Given the description of an element on the screen output the (x, y) to click on. 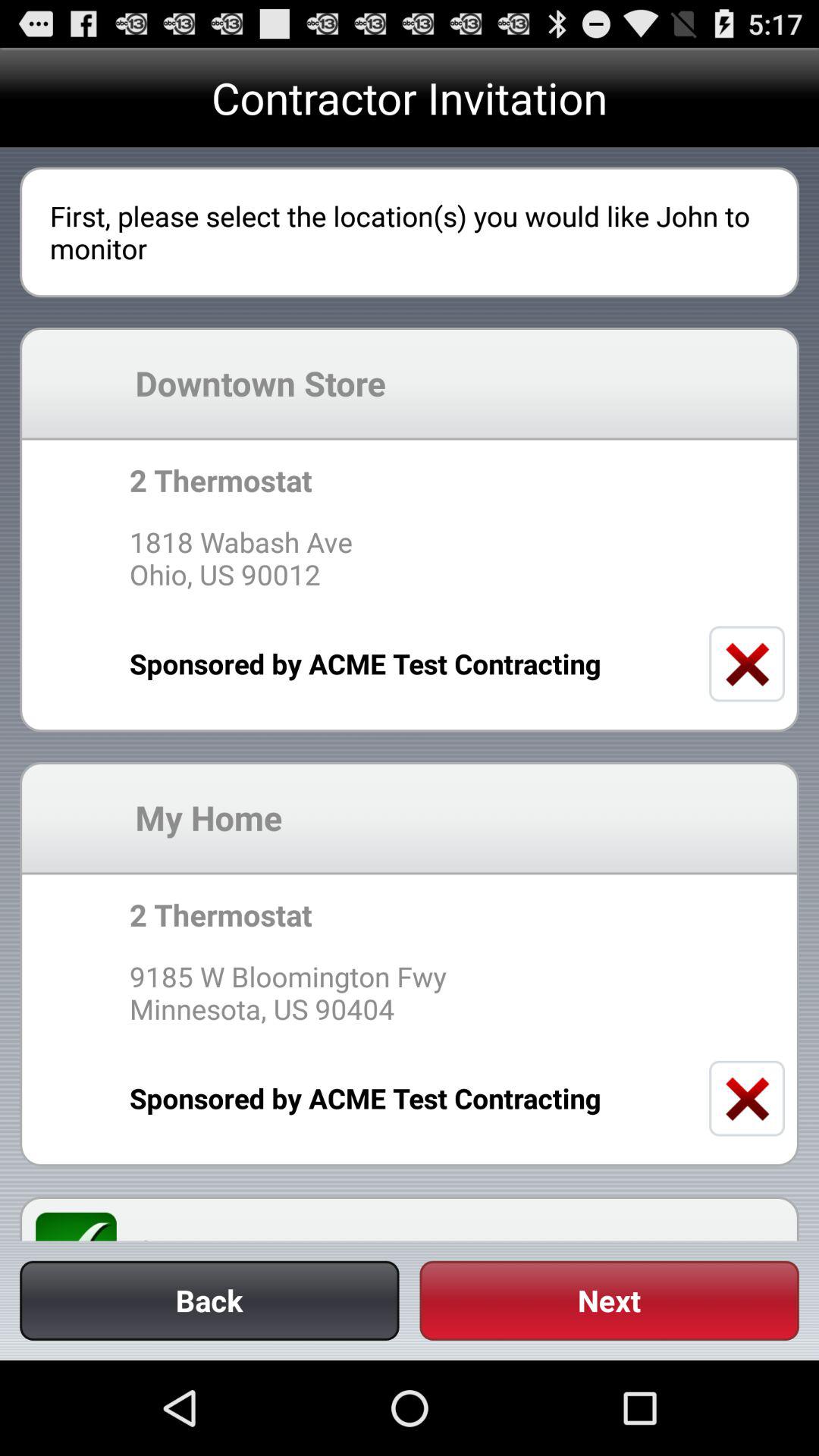
open the first please select (409, 232)
